Given the description of an element on the screen output the (x, y) to click on. 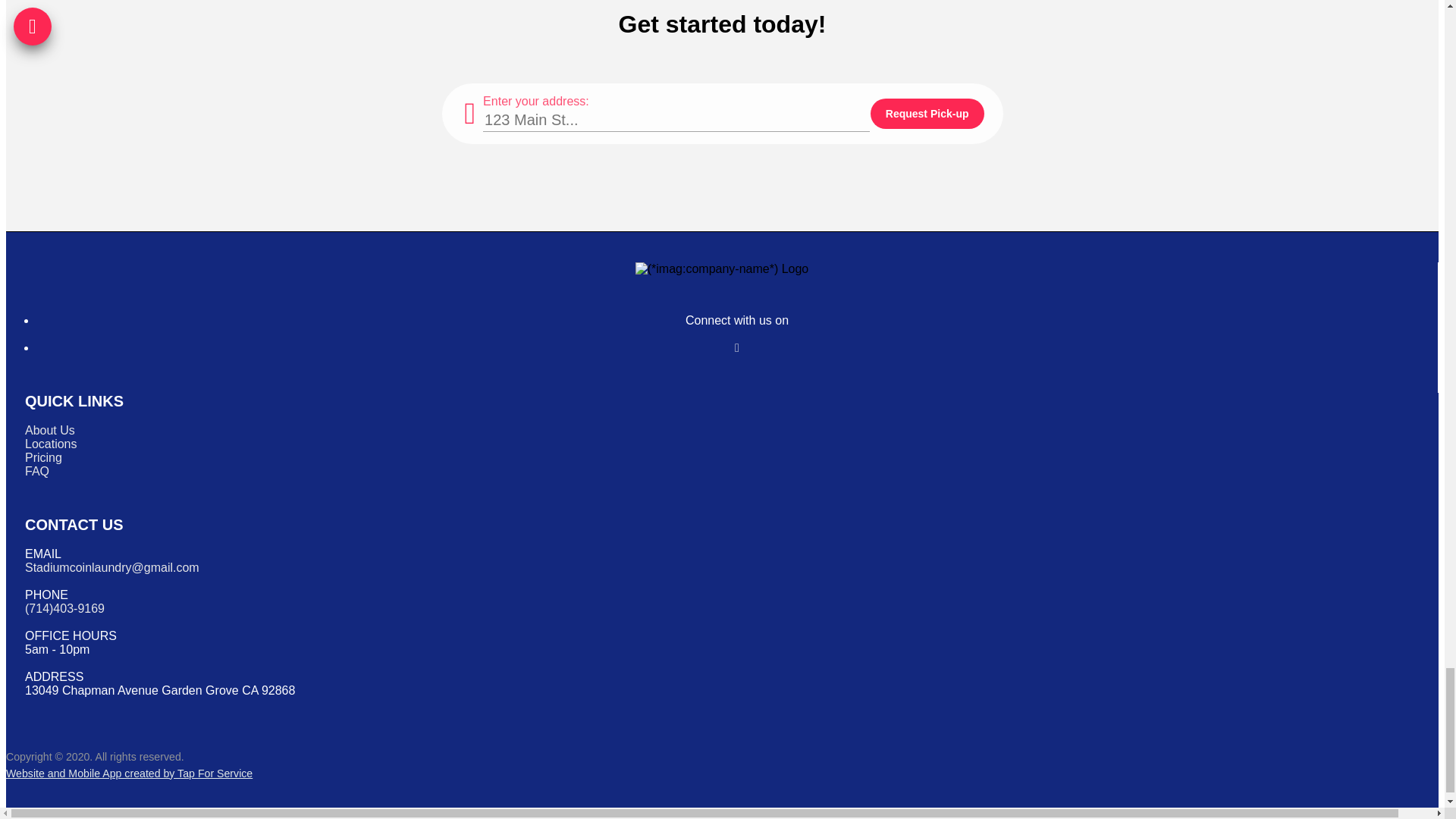
Pricing (43, 457)
About Us (49, 430)
Locations (50, 443)
FAQ (36, 471)
Website and Mobile App created by Tap For Service (128, 773)
